Given the description of an element on the screen output the (x, y) to click on. 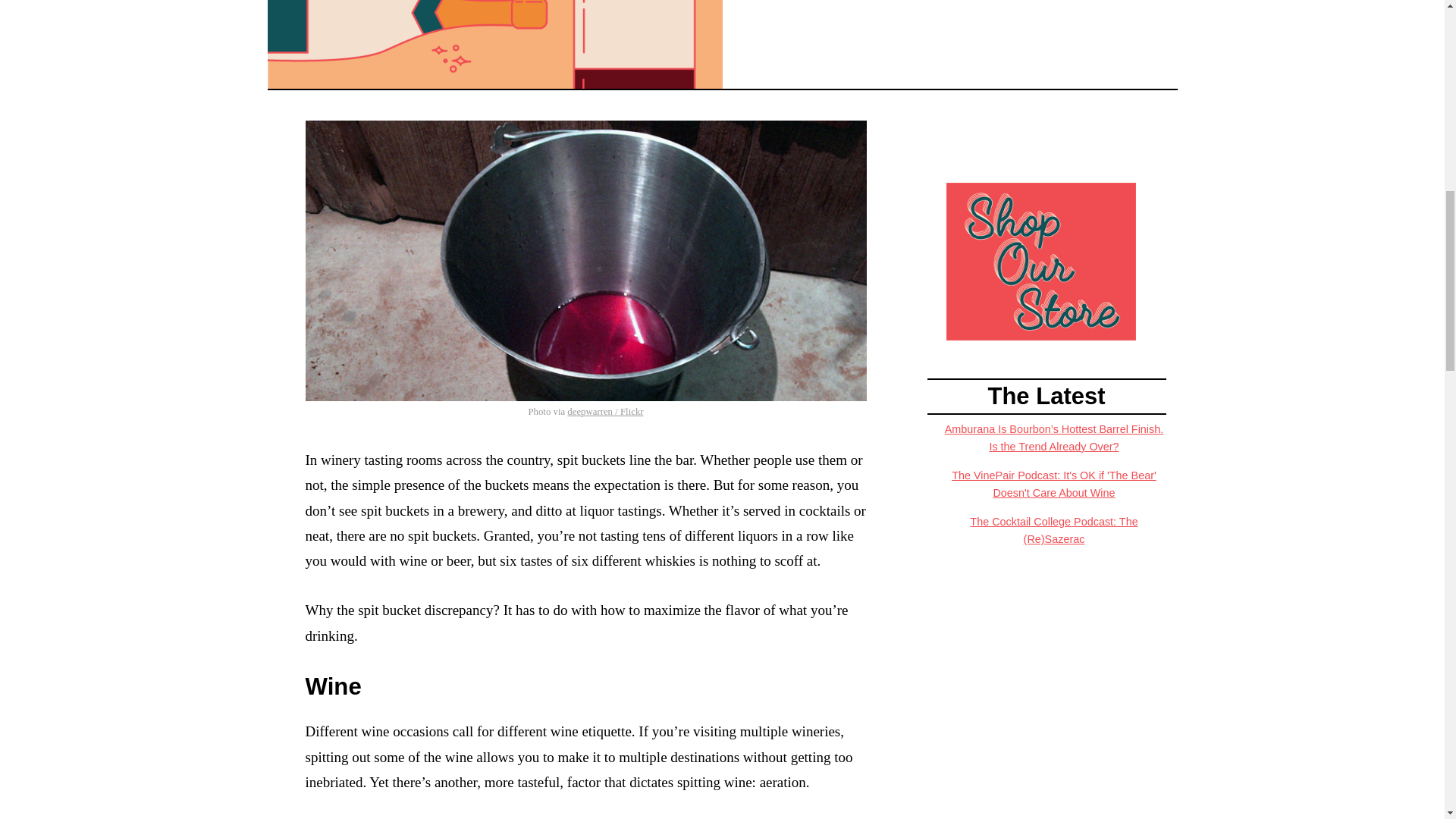
Why Don't People Spit at Beer and Liquor Tastings? (494, 44)
The VinePair Store (1040, 259)
